Given the description of an element on the screen output the (x, y) to click on. 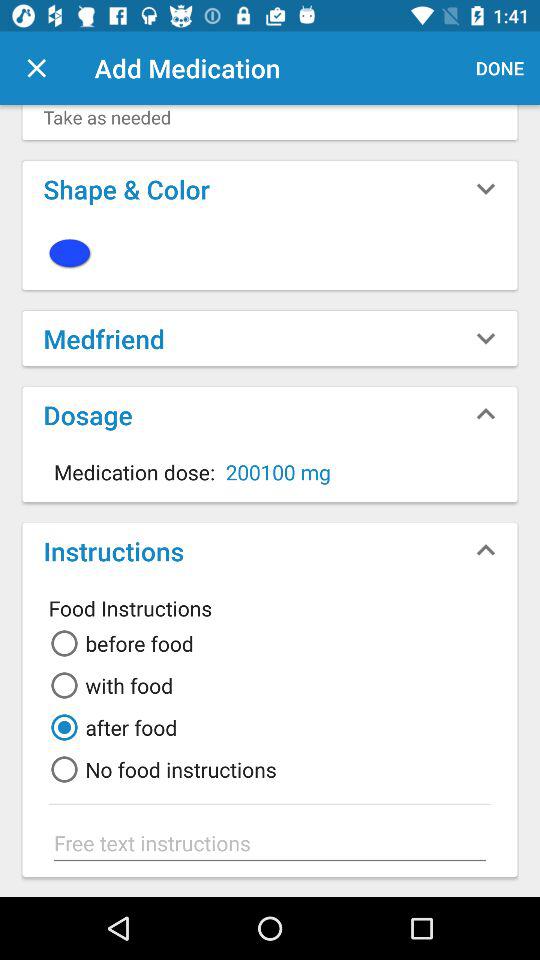
enter in additional information about diet restrictions in this area (269, 843)
